Given the description of an element on the screen output the (x, y) to click on. 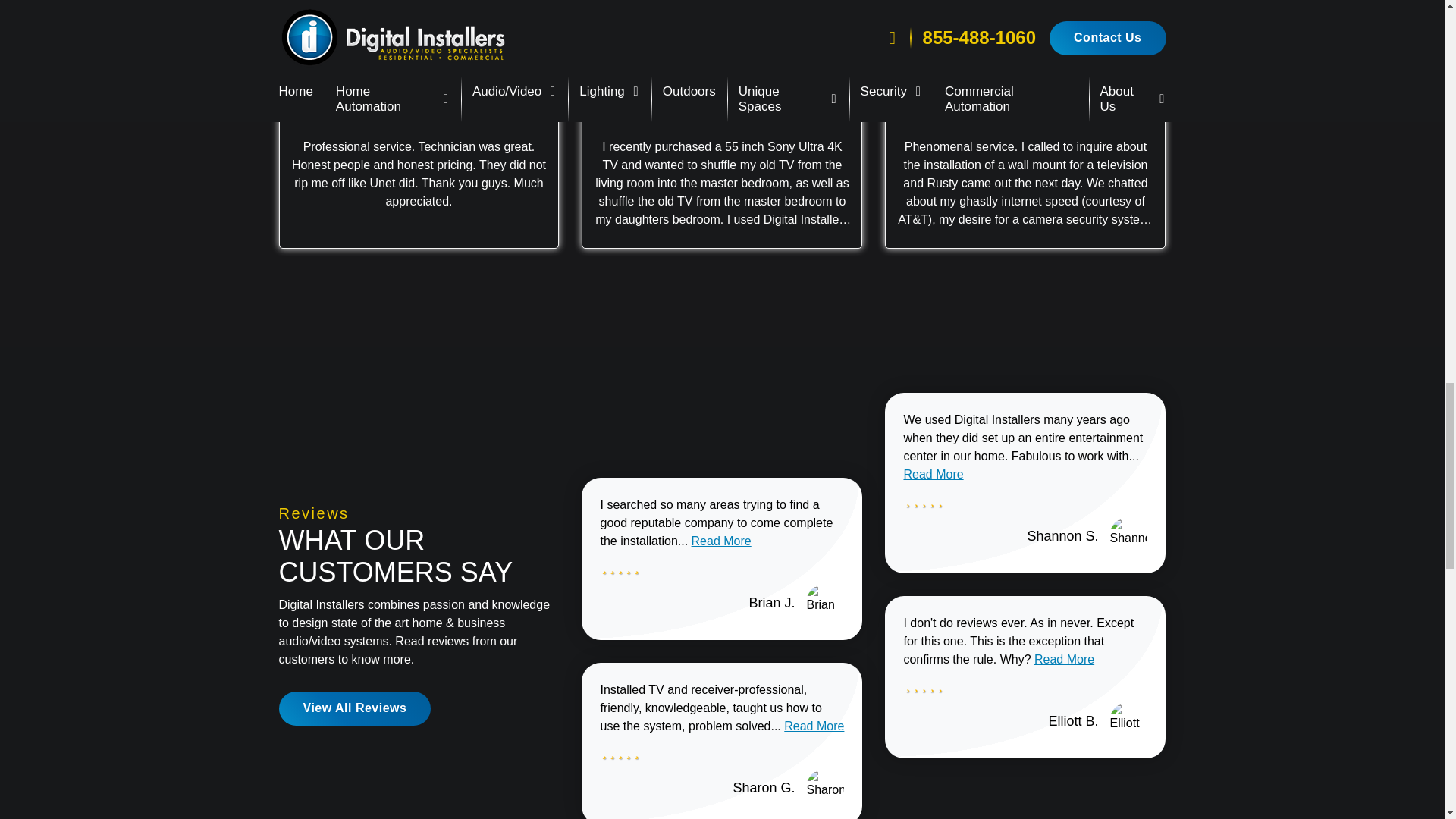
This review was posted on Yelp (443, 90)
This review was posted on Yelp (1050, 90)
This review was posted on Yelp (747, 90)
